Given the description of an element on the screen output the (x, y) to click on. 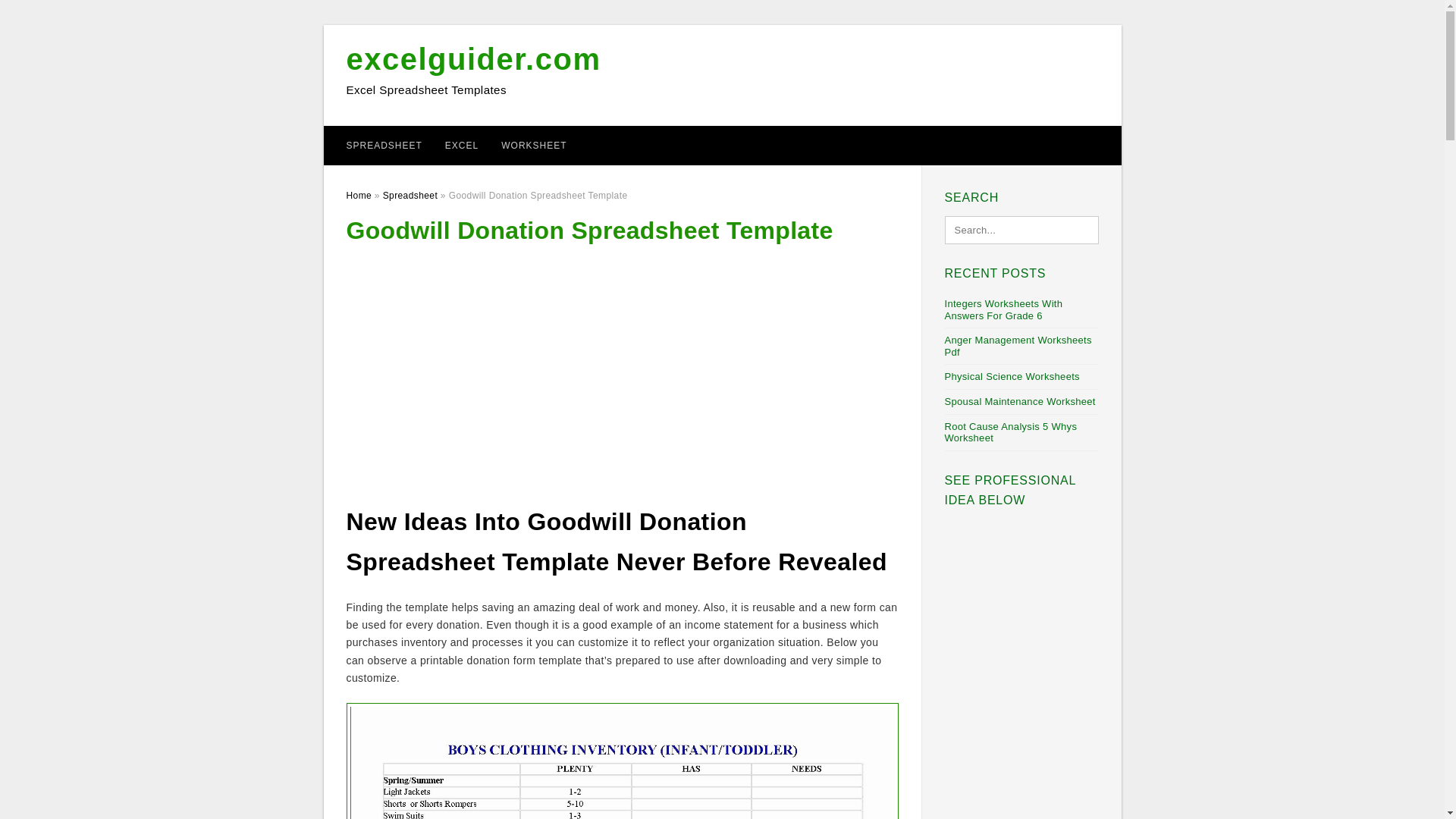
WORKSHEET (533, 145)
Home (358, 195)
excelguider.com (472, 59)
Advertisement (622, 363)
Spreadsheet (410, 195)
SPREADSHEET (383, 145)
EXCEL (461, 145)
